Given the description of an element on the screen output the (x, y) to click on. 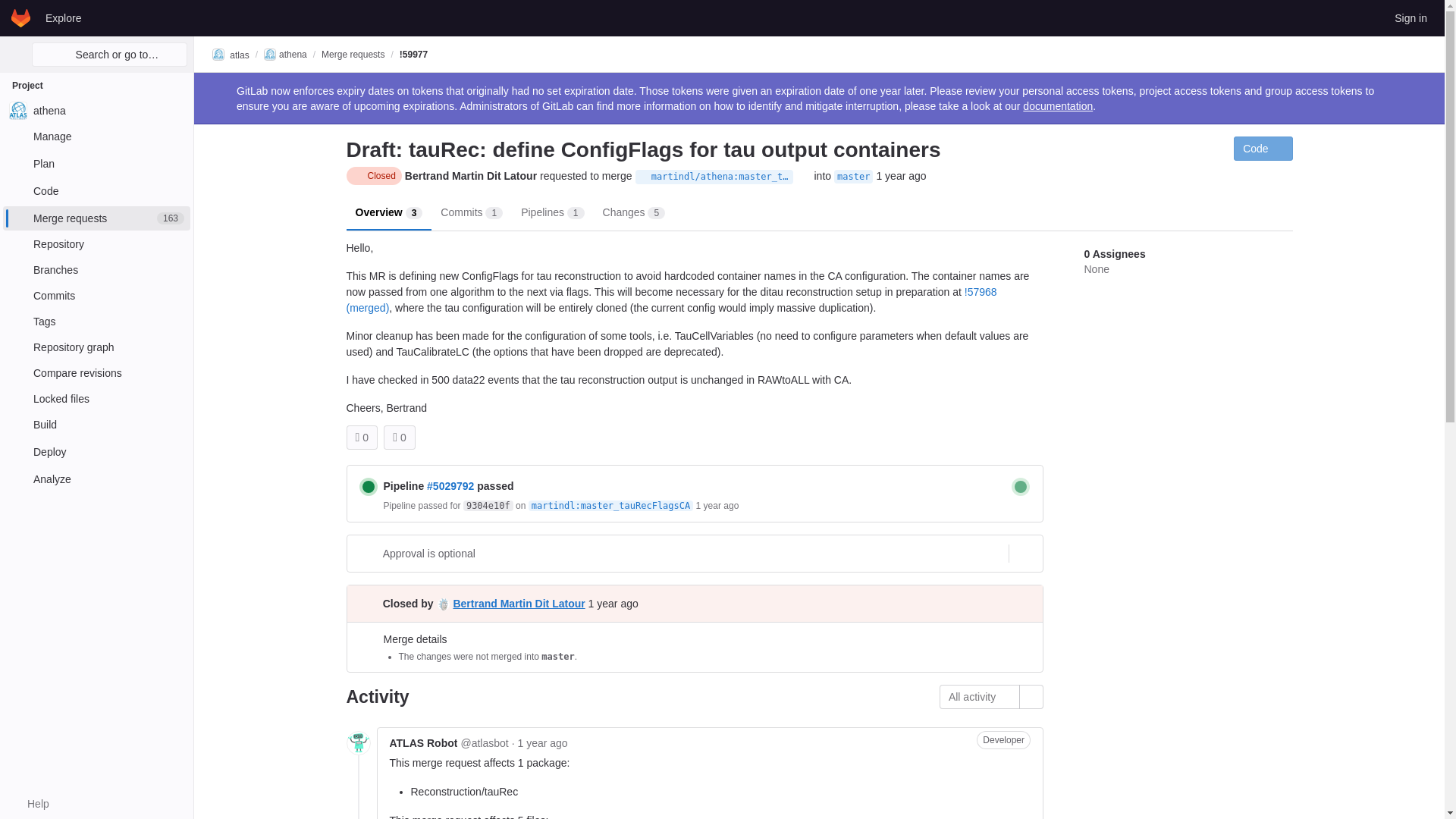
Repository (96, 243)
Tags (96, 218)
Plan (96, 321)
master (96, 163)
Explore (853, 176)
Code (63, 17)
Compare revisions (96, 191)
Passed (96, 372)
Deploy (368, 486)
Repository graph (96, 451)
Help (96, 346)
Build (30, 803)
Commits (96, 424)
Expand eligible approvers (96, 295)
